Given the description of an element on the screen output the (x, y) to click on. 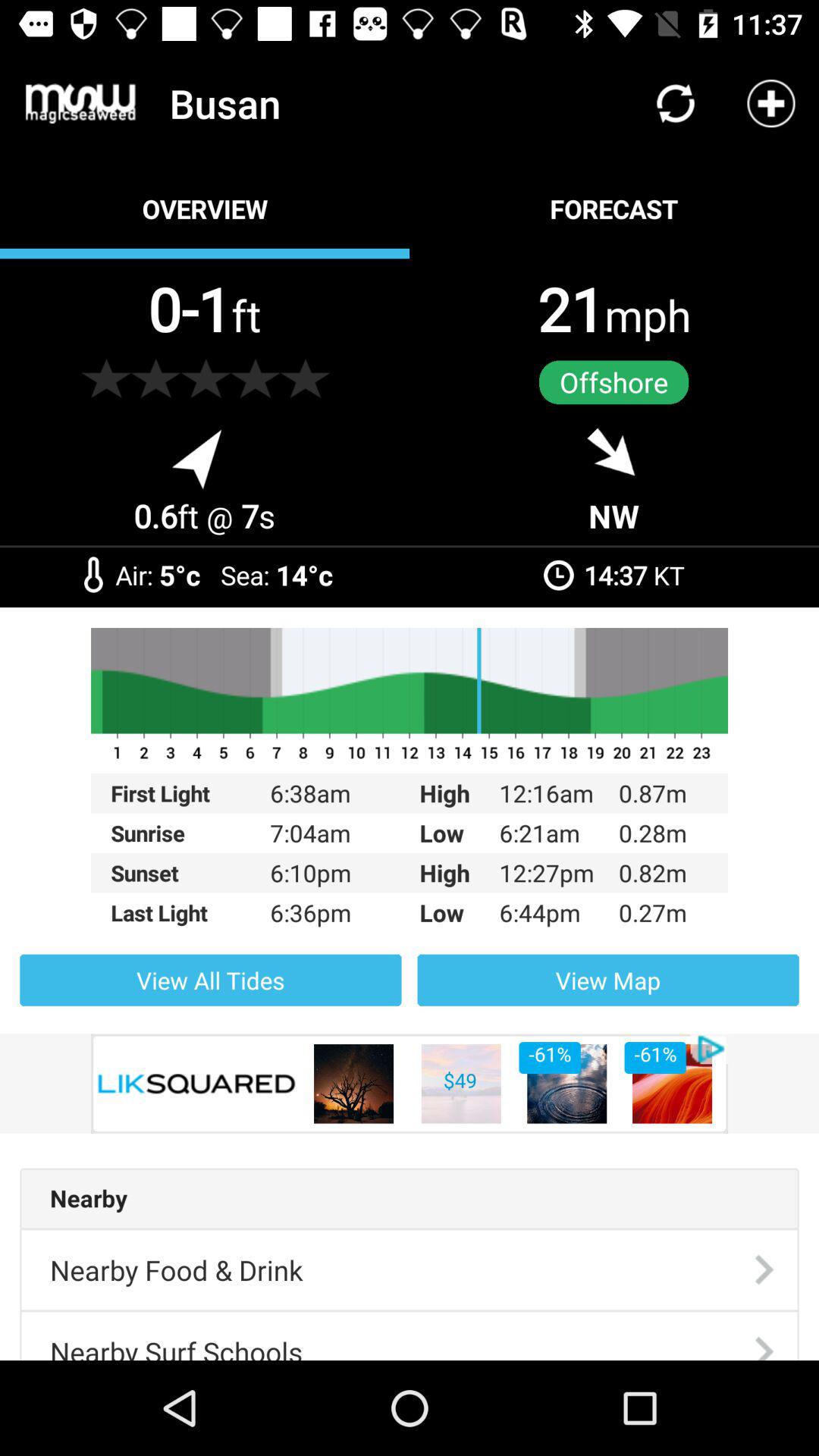
open item above the 0.6ft @ 7s (106, 378)
